Given the description of an element on the screen output the (x, y) to click on. 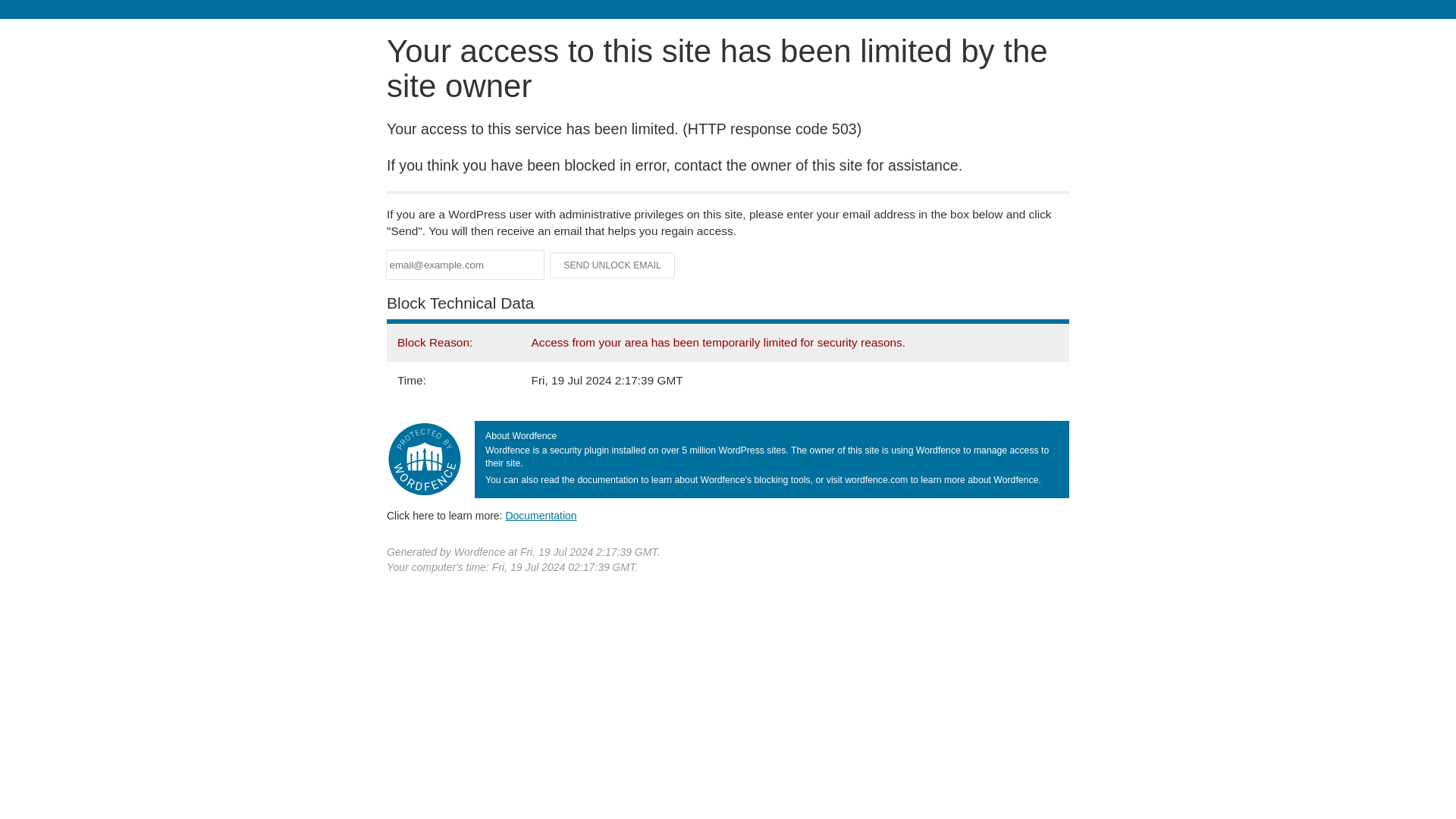
Send Unlock Email (612, 265)
Send Unlock Email (612, 265)
Documentation (540, 515)
